Given the description of an element on the screen output the (x, y) to click on. 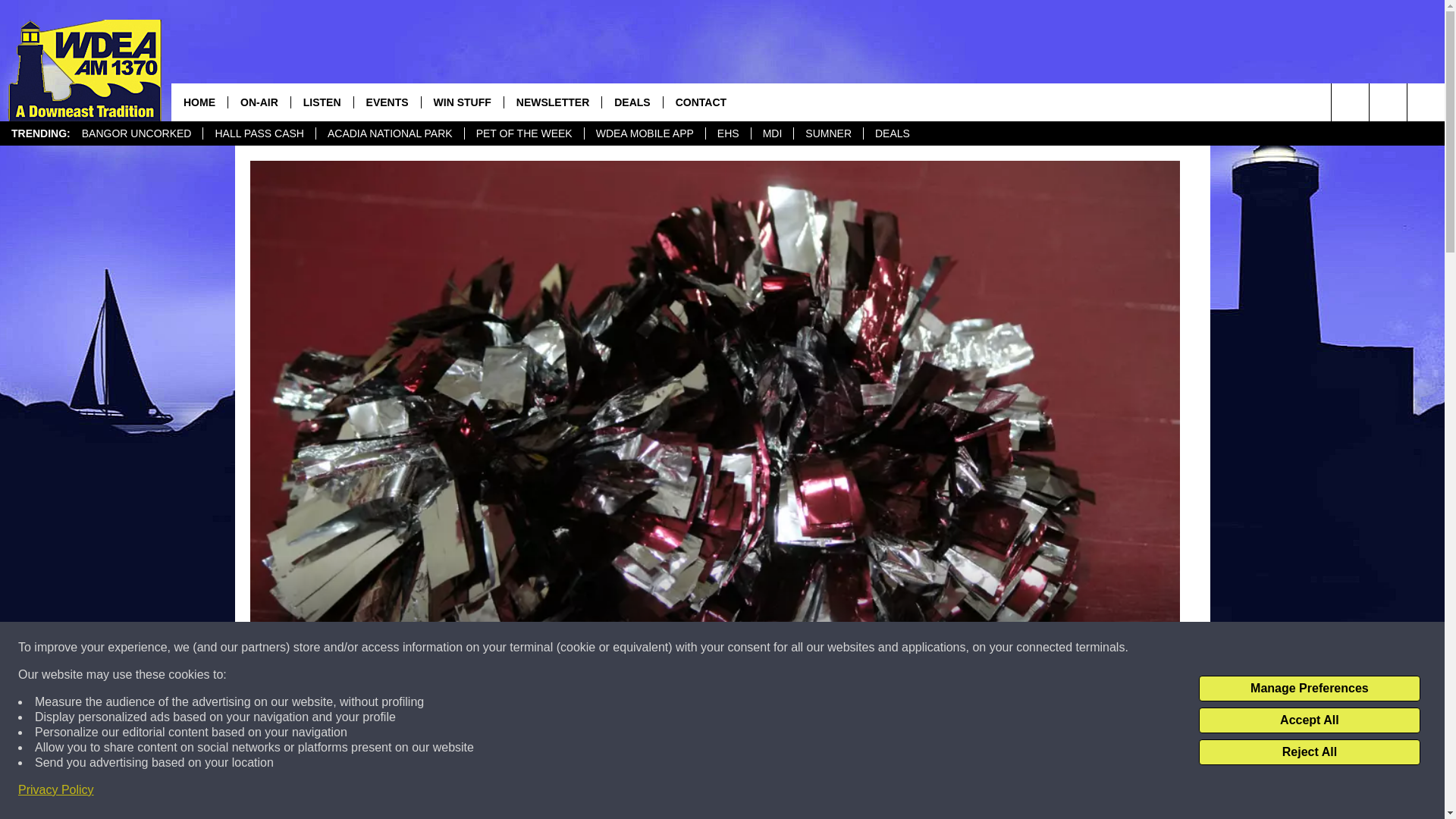
ACADIA NATIONAL PARK (389, 133)
Privacy Policy (55, 789)
Manage Preferences (1309, 688)
WDEA MOBILE APP (643, 133)
Share on Twitter (912, 791)
WIN STUFF (461, 102)
ON-AIR (258, 102)
PET OF THE WEEK (523, 133)
Reject All (1309, 751)
NEWSLETTER (552, 102)
DEALS (631, 102)
DEALS (892, 133)
BANGOR UNCORKED (136, 133)
CONTACT (700, 102)
HALL PASS CASH (258, 133)
